Given the description of an element on the screen output the (x, y) to click on. 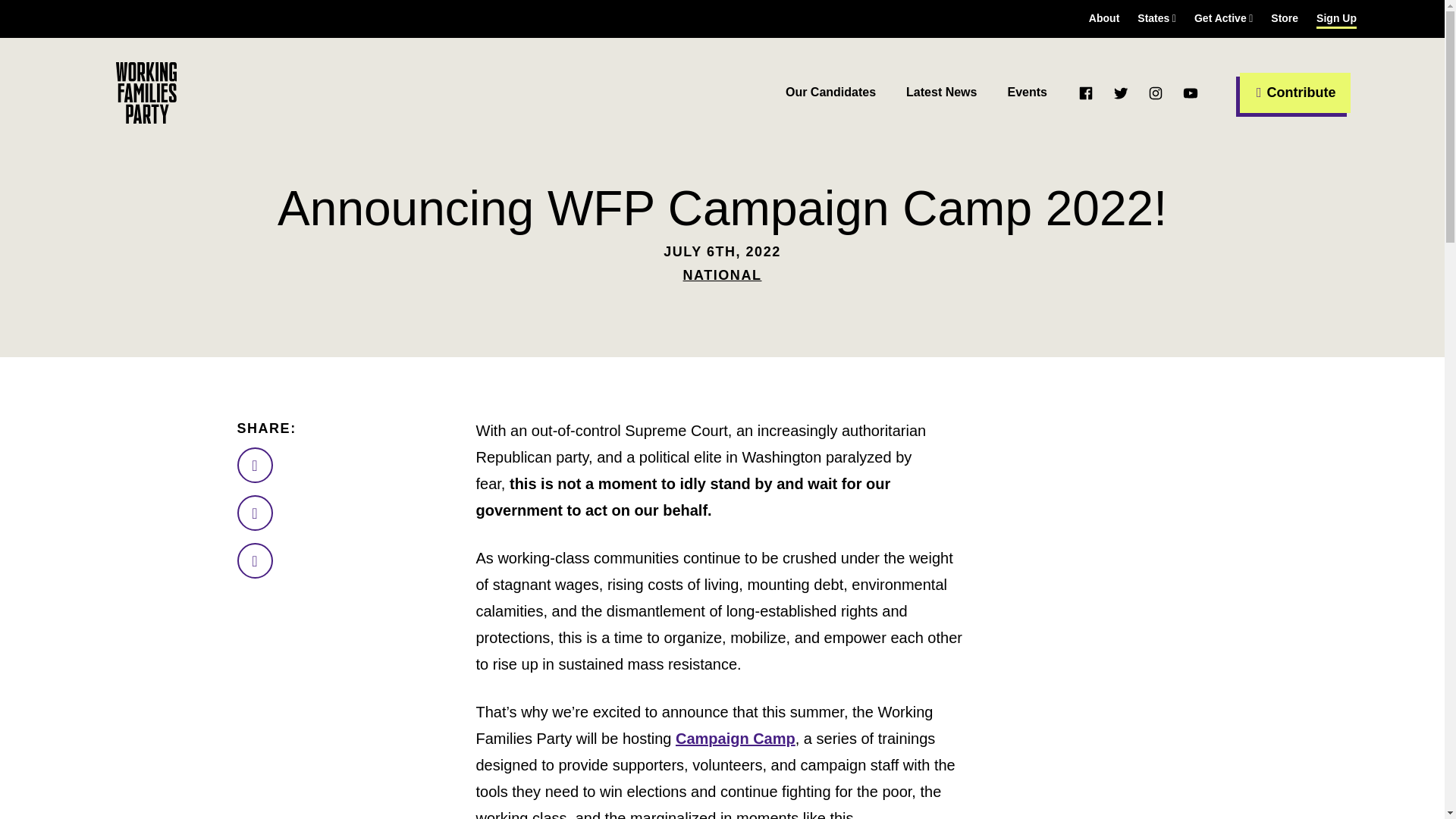
States (1156, 18)
About (1104, 18)
Facebook (1085, 93)
Get Active (1222, 18)
Latest News (940, 92)
Close (1415, 35)
Working Families Party (145, 92)
Sign Up (1336, 18)
Events (1026, 92)
Store (1284, 18)
Twitter (1120, 93)
Our Candidates (831, 92)
YouTube (1190, 93)
Instagram (1155, 93)
